Given the description of an element on the screen output the (x, y) to click on. 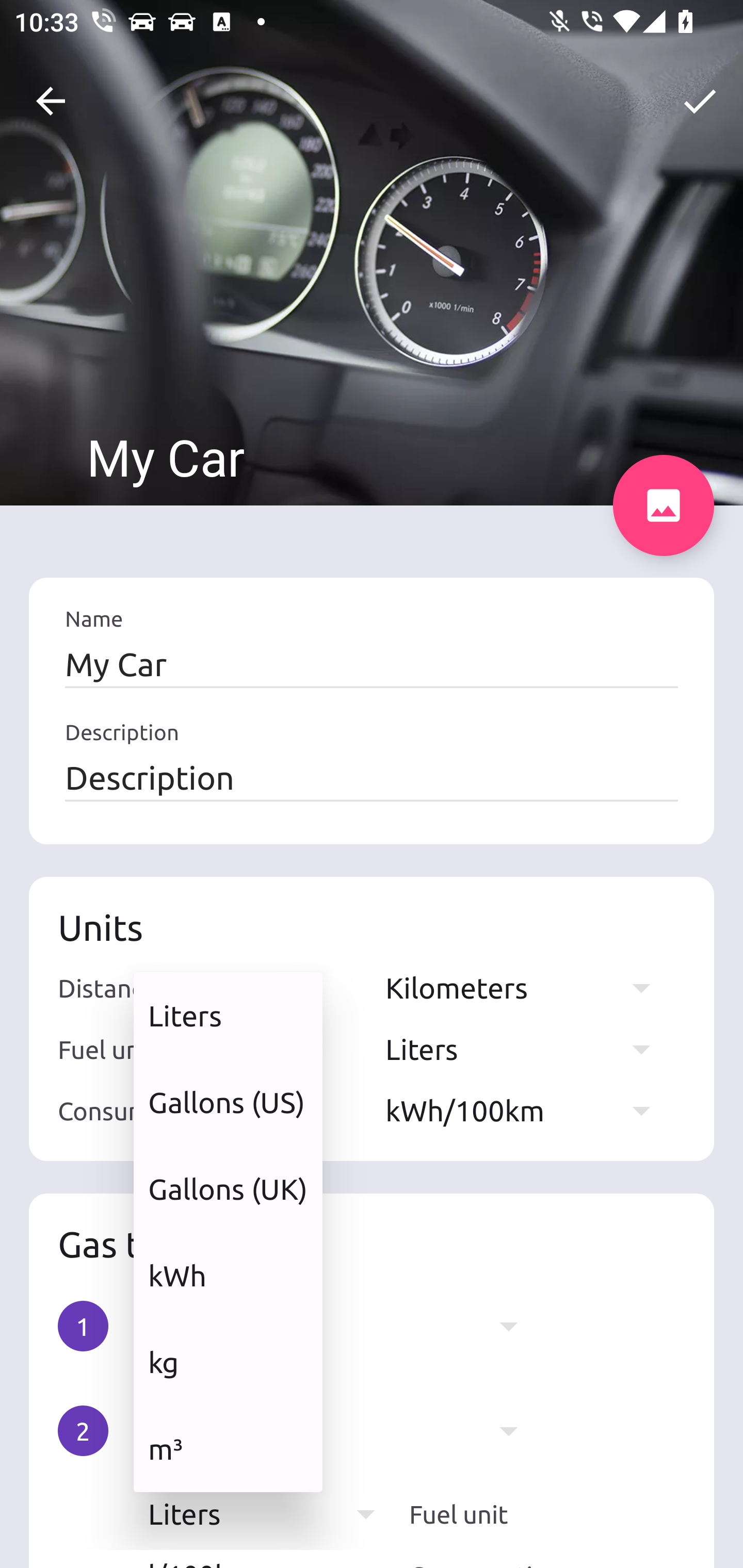
Liters (227, 1015)
Gallons (US) (227, 1102)
Gallons (UK) (227, 1189)
kWh (227, 1275)
kg (227, 1361)
m³ (227, 1448)
